Given the description of an element on the screen output the (x, y) to click on. 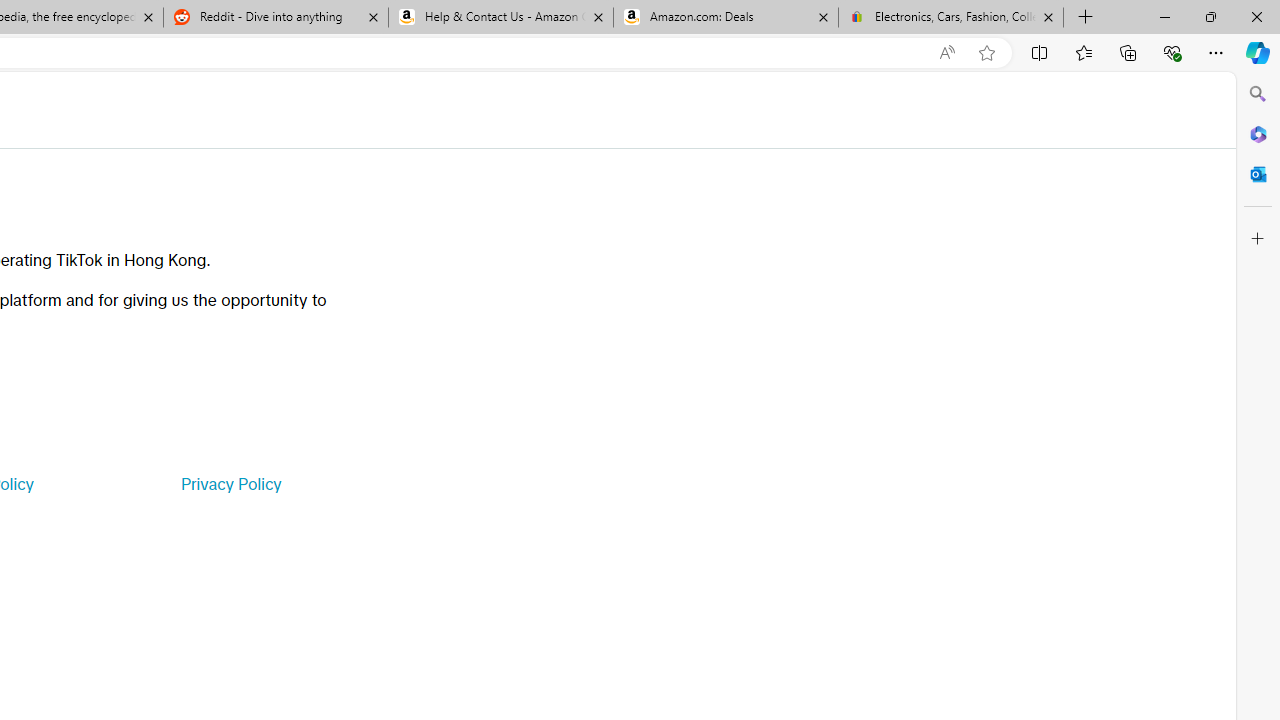
Amazon.com: Deals (726, 17)
Privacy Policy (230, 484)
